Given the description of an element on the screen output the (x, y) to click on. 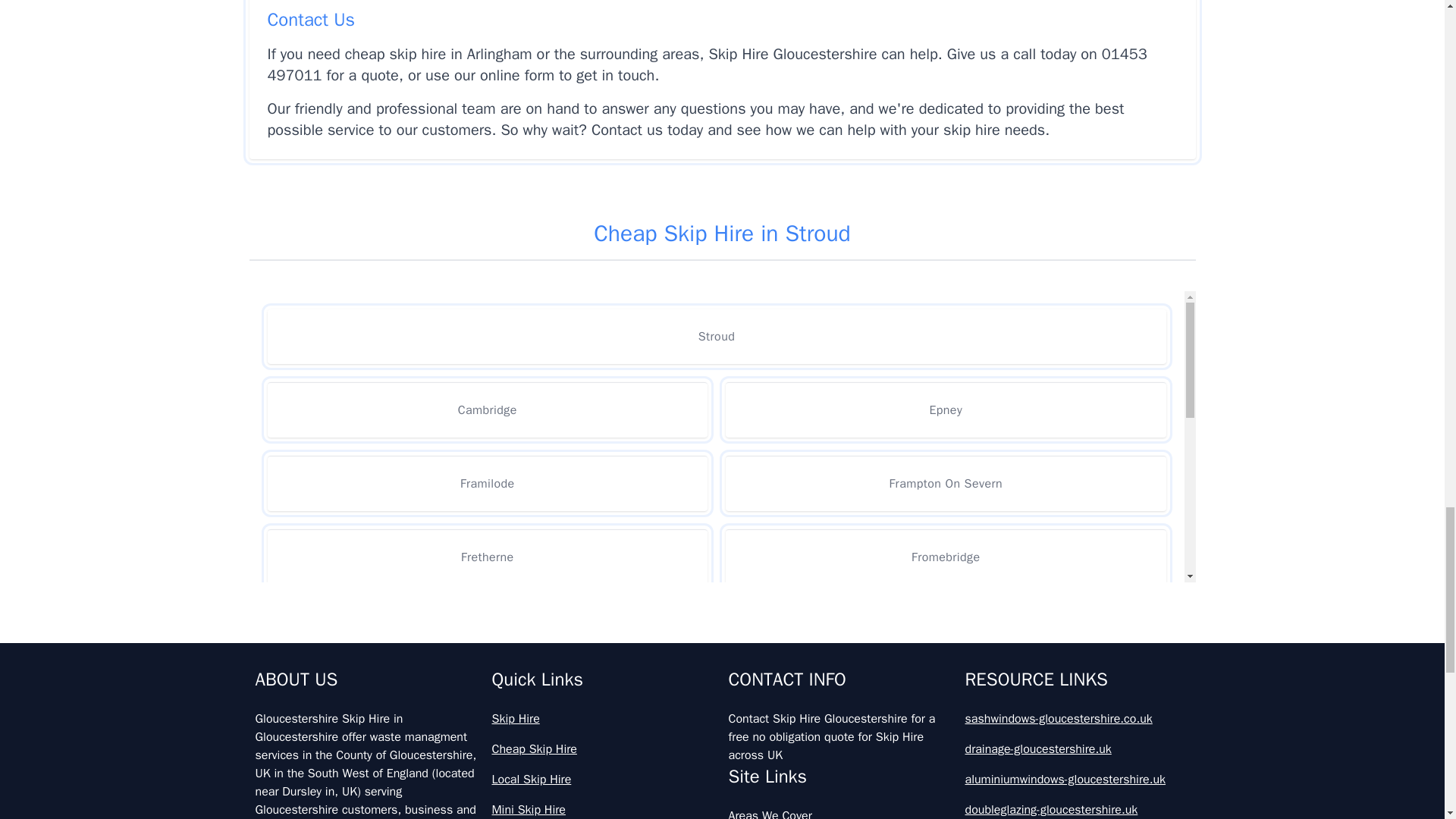
Cambridge (486, 409)
Parkend (945, 704)
Epney (945, 409)
Fretherne (486, 556)
Overton (486, 704)
Framilode (486, 483)
Stroud (716, 336)
doubleglazing-gloucestershire.uk (1076, 809)
aluminiumwindows-gloucestershire.uk (1076, 779)
drainage-gloucestershire.uk (1076, 749)
